Given the description of an element on the screen output the (x, y) to click on. 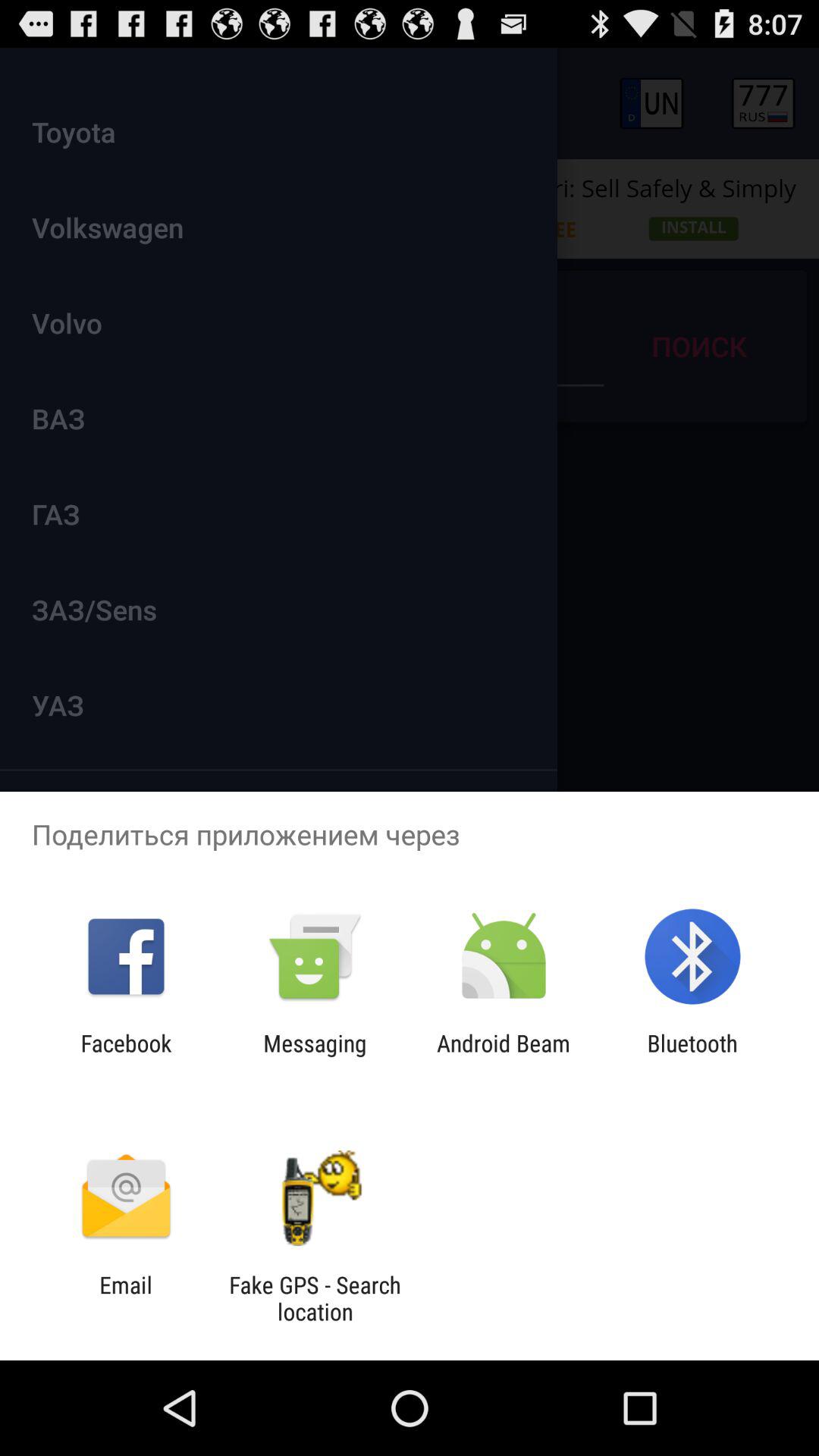
click app to the left of the fake gps search item (125, 1298)
